Given the description of an element on the screen output the (x, y) to click on. 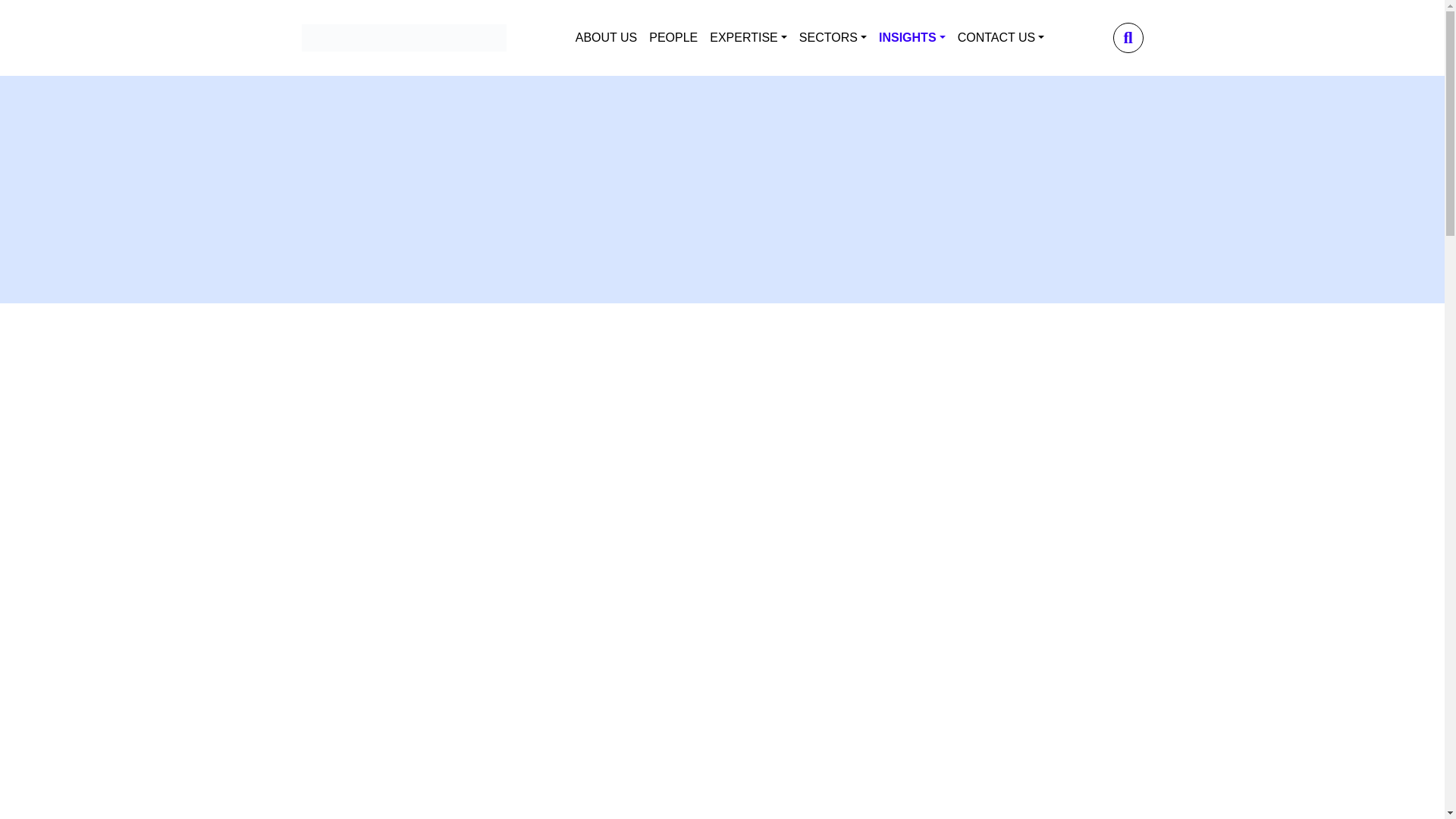
EXPERTISE (748, 38)
ABOUT US (606, 38)
SECTORS (832, 38)
